Given the description of an element on the screen output the (x, y) to click on. 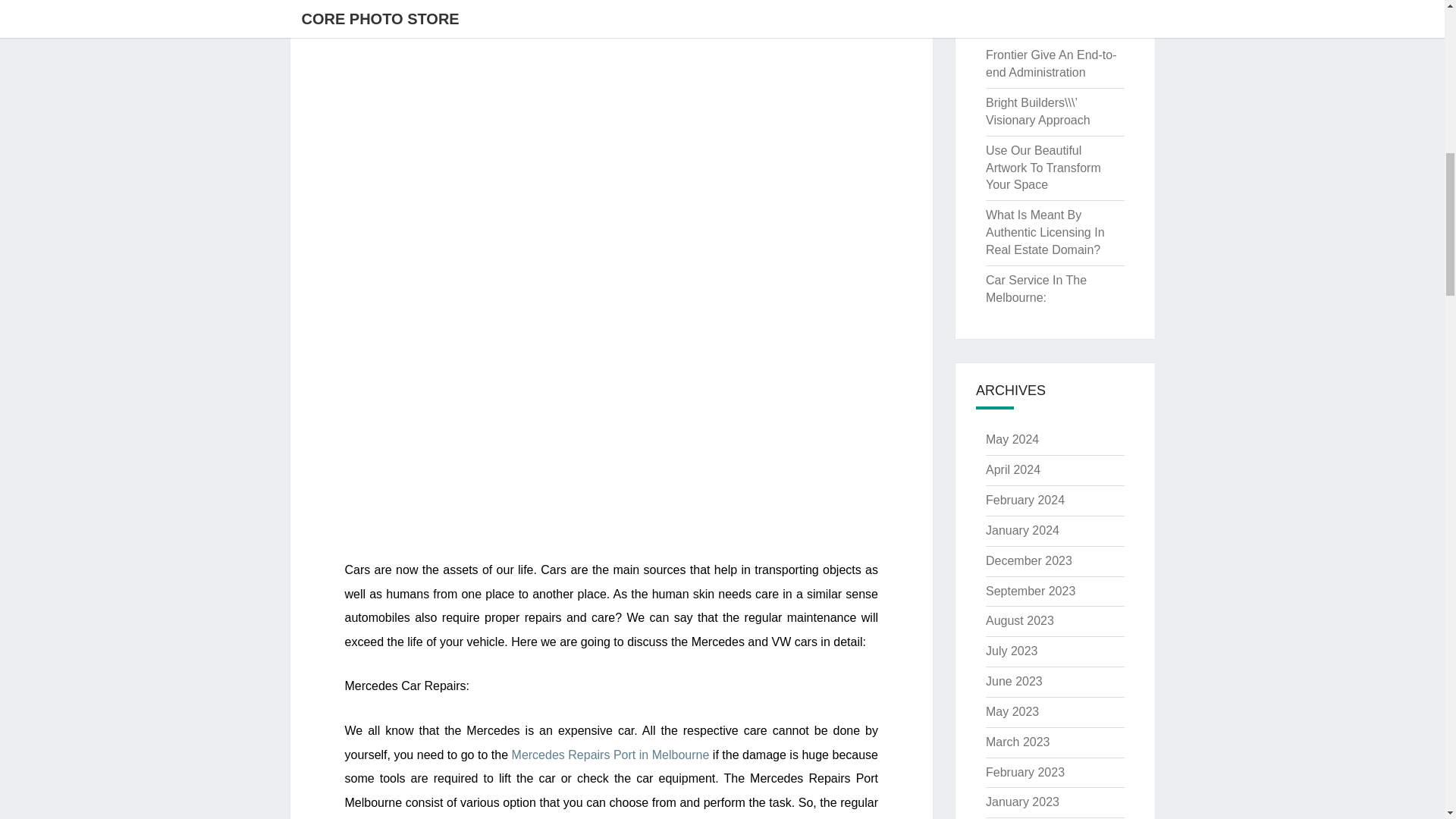
February 2023 (1024, 771)
Use Our Beautiful Artwork To Transform Your Space (1042, 167)
May 2023 (1012, 711)
Car Service In The Melbourne: (1035, 288)
August 2023 (1019, 620)
July 2023 (1011, 650)
March 2023 (1017, 741)
May 2024 (1012, 439)
January 2023 (1022, 801)
February 2024 (1024, 499)
Mercedes Repairs Port in Melbourne (611, 754)
December 2023 (1028, 560)
June 2023 (1013, 680)
Frontier Give An End-to-end Administration (1050, 63)
